Given the description of an element on the screen output the (x, y) to click on. 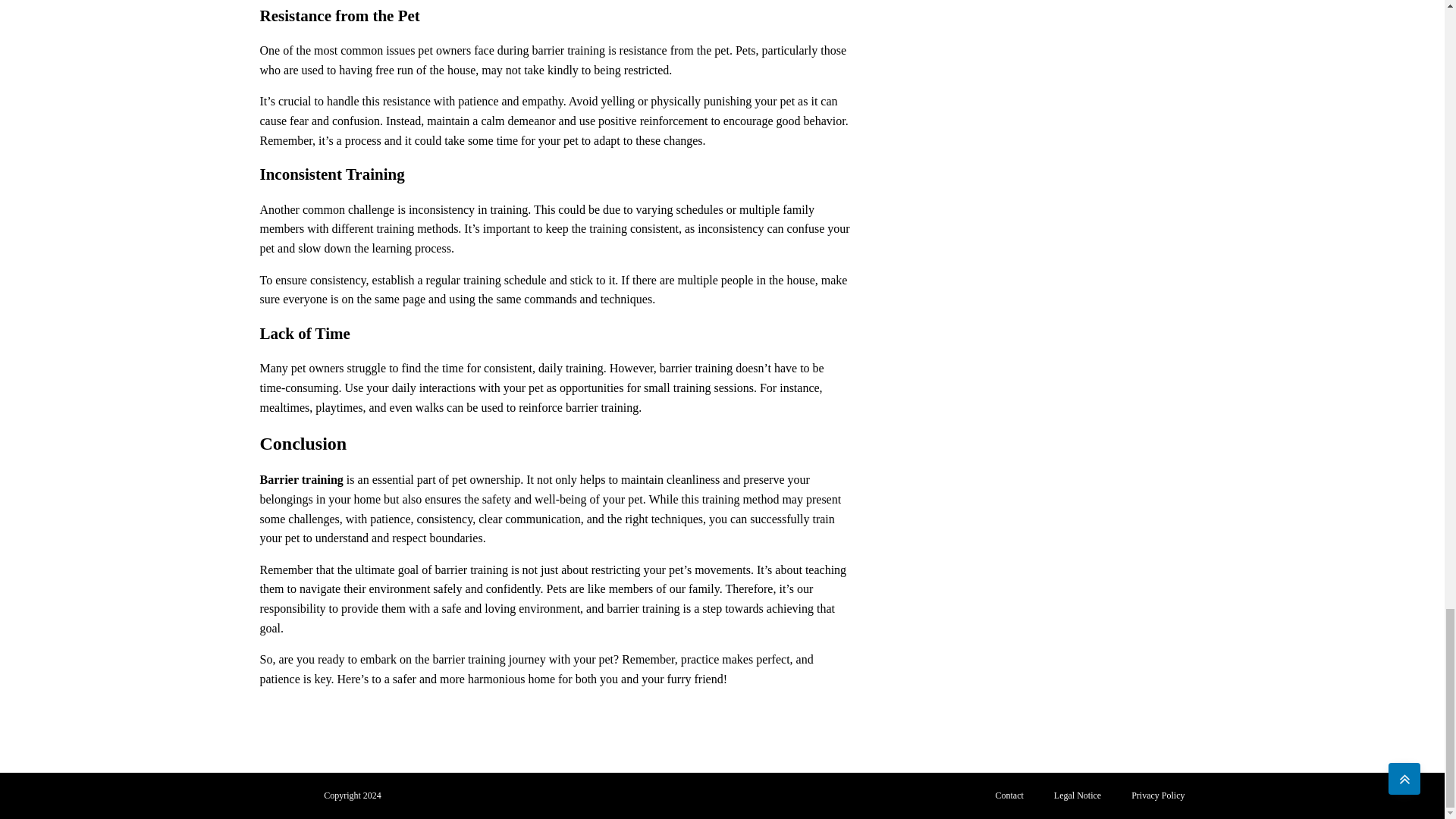
Privacy Policy (1157, 795)
Legal Notice (1077, 795)
Contact (1009, 795)
